Given the description of an element on the screen output the (x, y) to click on. 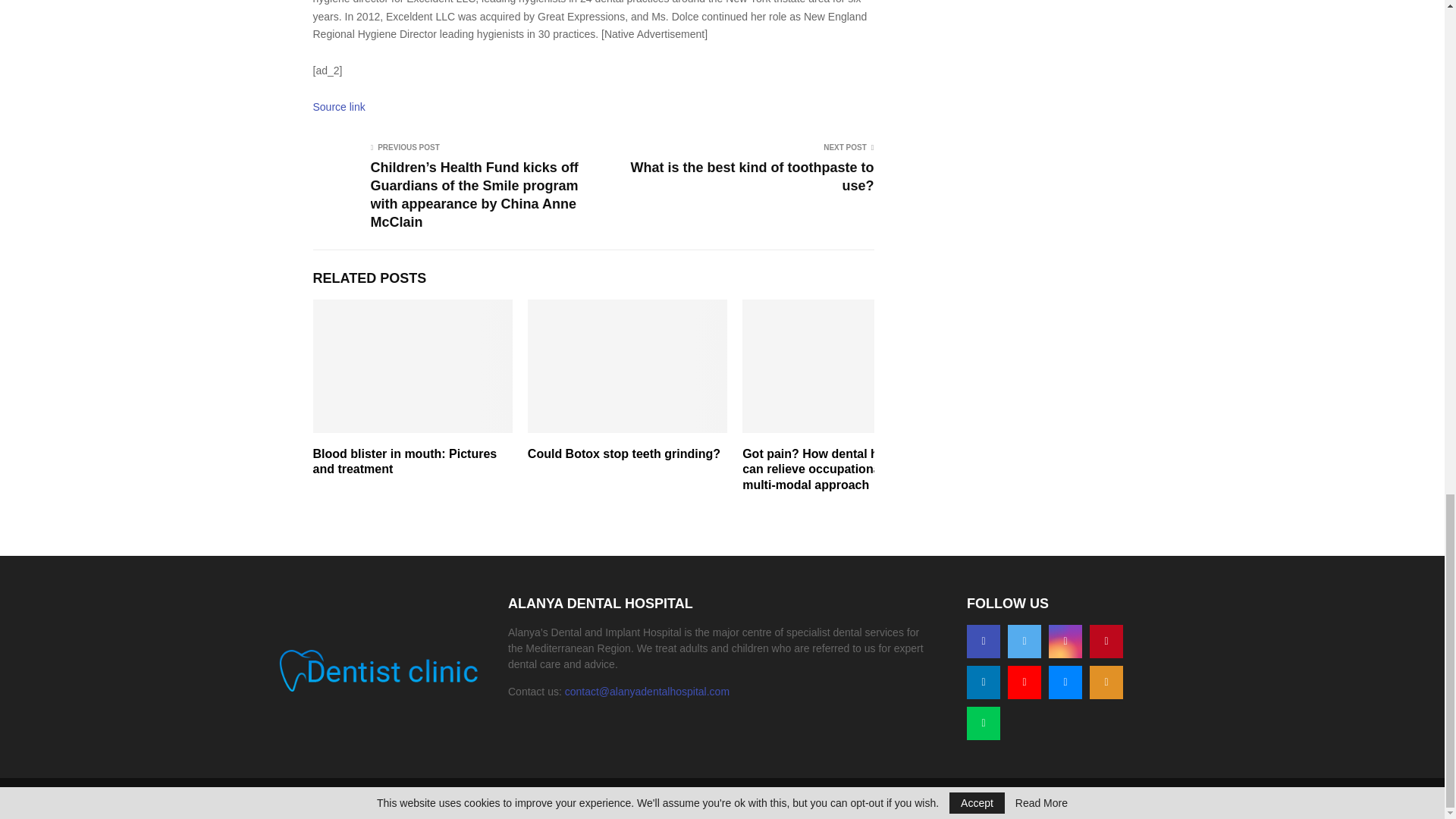
Rss (1105, 682)
Facebook (983, 641)
Twitter (1024, 641)
Pinterest (1105, 641)
Youtube (1024, 682)
Whatsapp (983, 723)
Instagram (1064, 641)
Linkedin (983, 682)
Email (1064, 682)
